Given the description of an element on the screen output the (x, y) to click on. 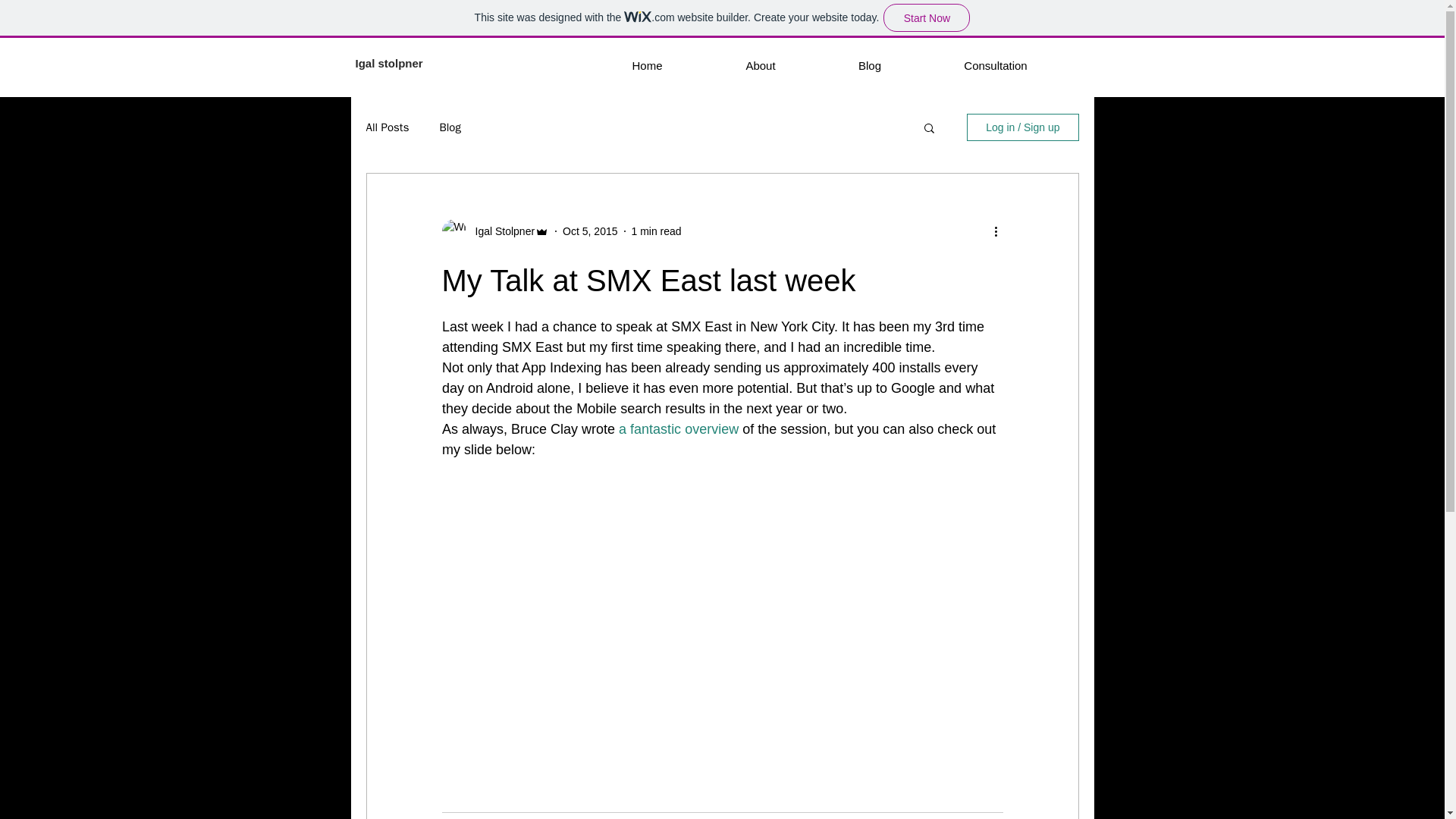
Blog (449, 126)
About (759, 65)
Igal Stolpner (499, 230)
1 min read (655, 230)
Blog (869, 65)
All Posts (387, 126)
a fantastic overview (678, 428)
Home (646, 65)
Consultation (994, 65)
Oct 5, 2015 (589, 230)
